Given the description of an element on the screen output the (x, y) to click on. 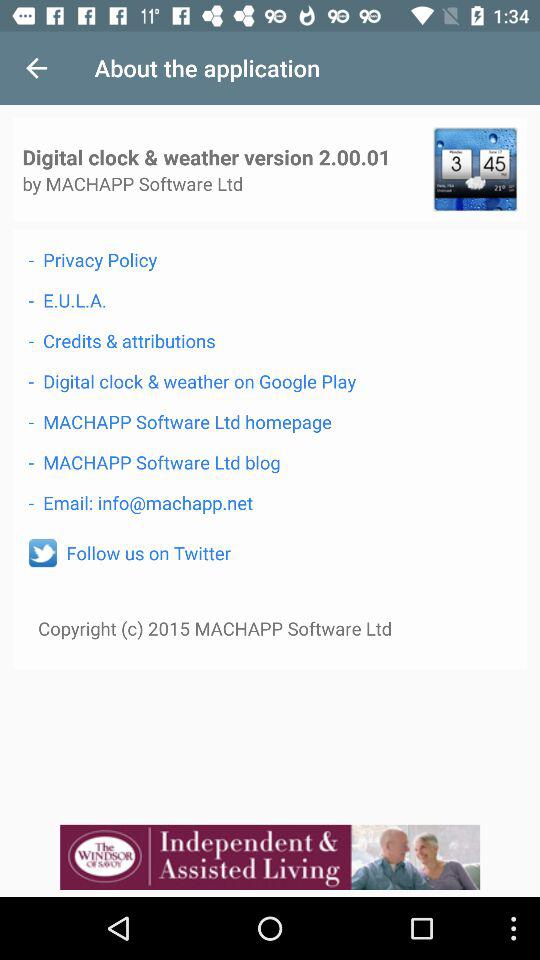
co settings (475, 169)
